Given the description of an element on the screen output the (x, y) to click on. 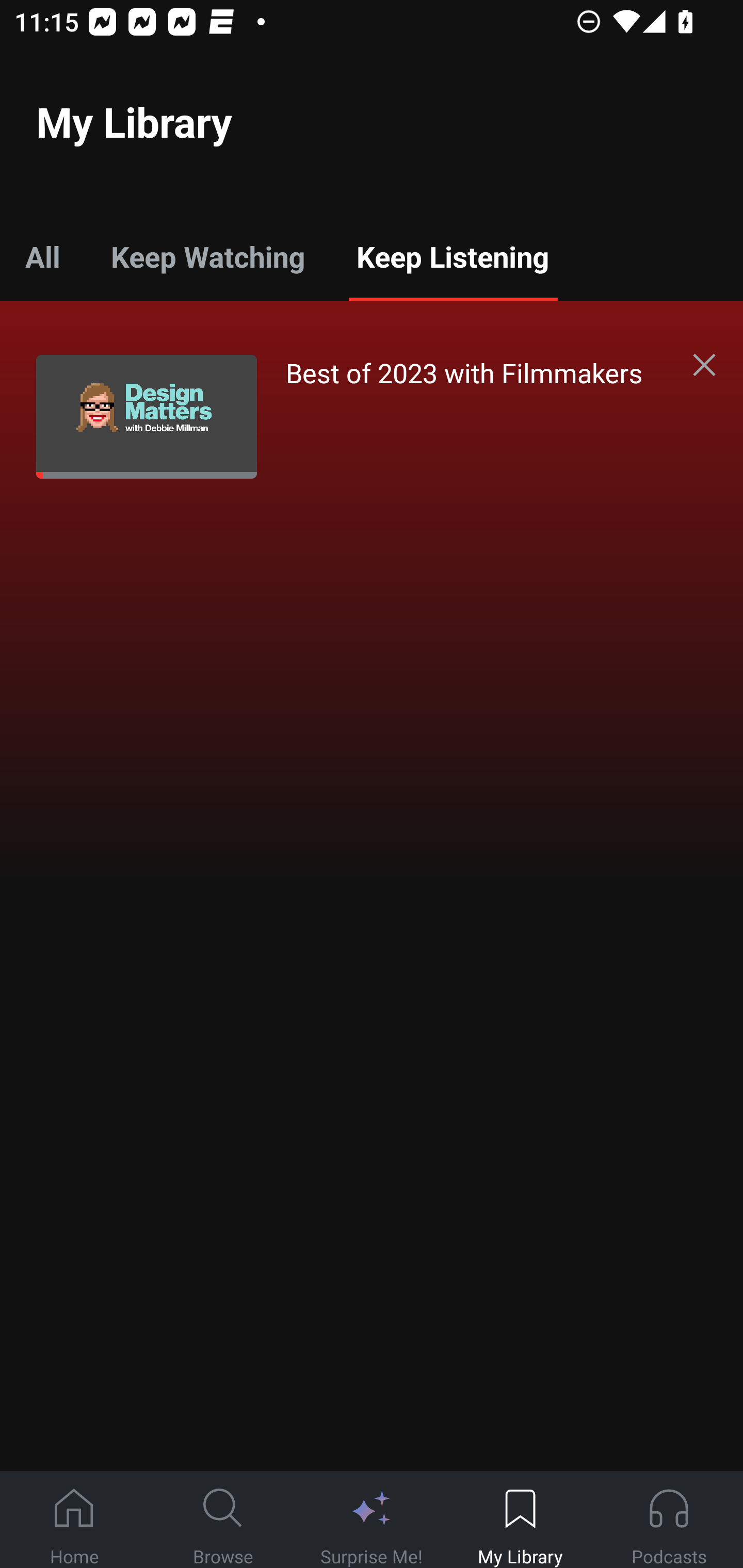
All (42, 256)
Keep Watching (207, 256)
Keep Listening (452, 256)
Best of 2023 with Filmmakers (353, 416)
Home (74, 1520)
Browse (222, 1520)
Surprise Me! (371, 1520)
My Library (519, 1520)
Podcasts (668, 1520)
